Given the description of an element on the screen output the (x, y) to click on. 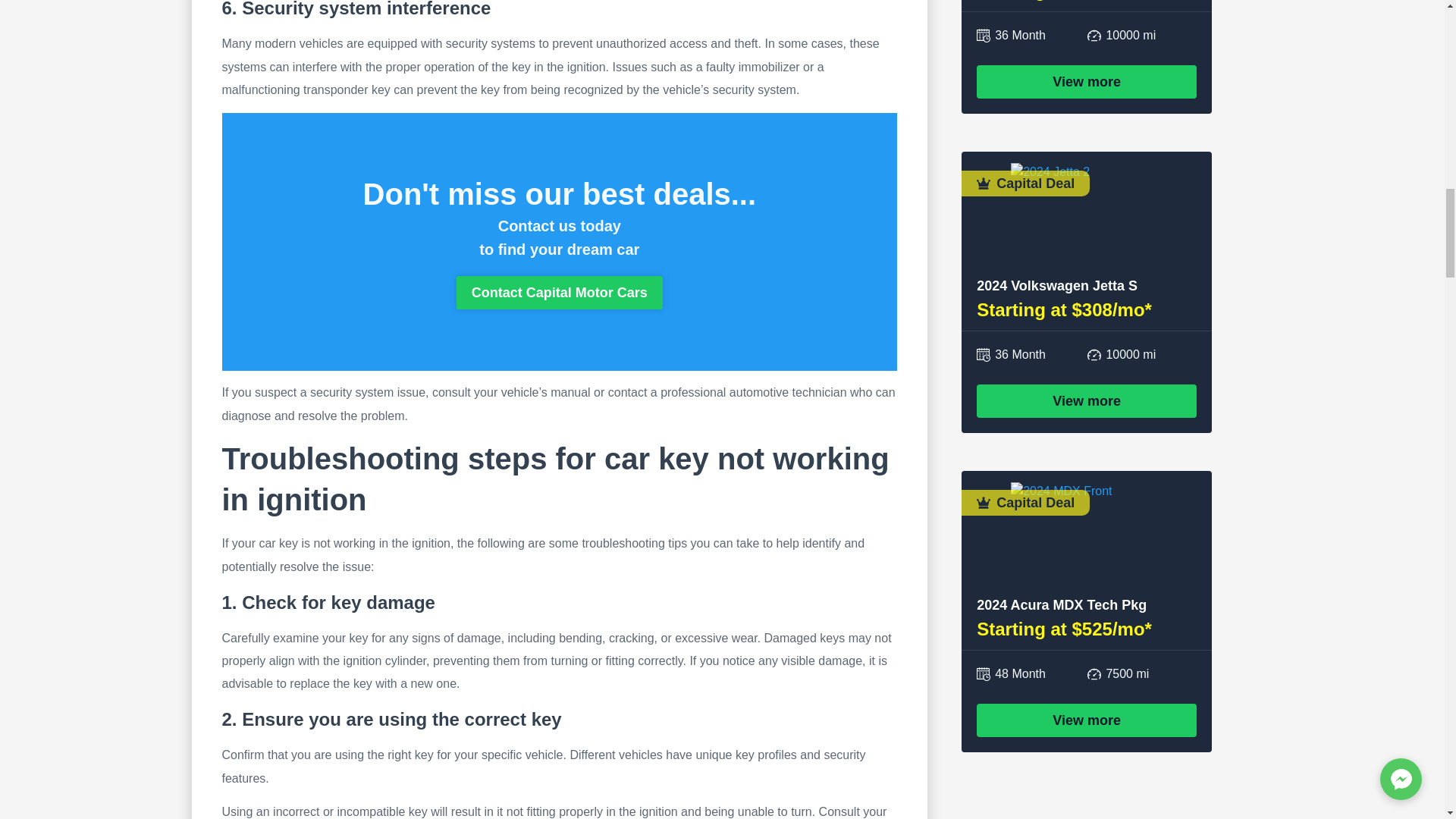
Contact Capital Motor Cars (559, 292)
